Given the description of an element on the screen output the (x, y) to click on. 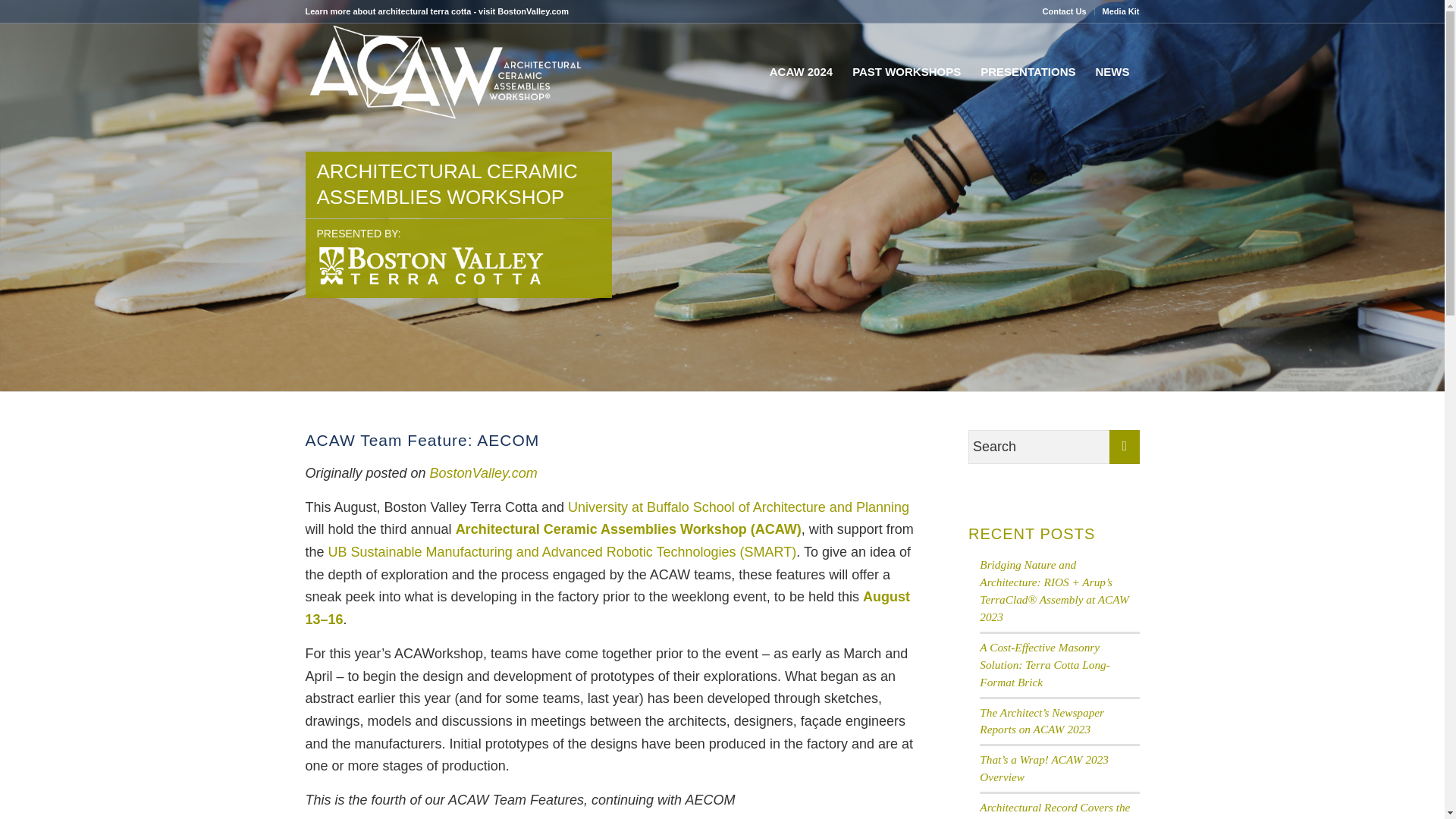
University at Buffalo School of Architecture and Planning (737, 507)
Contact Us (1064, 11)
PAST WORKSHOPS (907, 71)
BostonValley.com (533, 10)
BostonValley.com (483, 473)
PRESENTATIONS (1027, 71)
Media Kit (1121, 11)
Architectural Record Covers the 2023 ACAWorkshop (1054, 809)
